Given the description of an element on the screen output the (x, y) to click on. 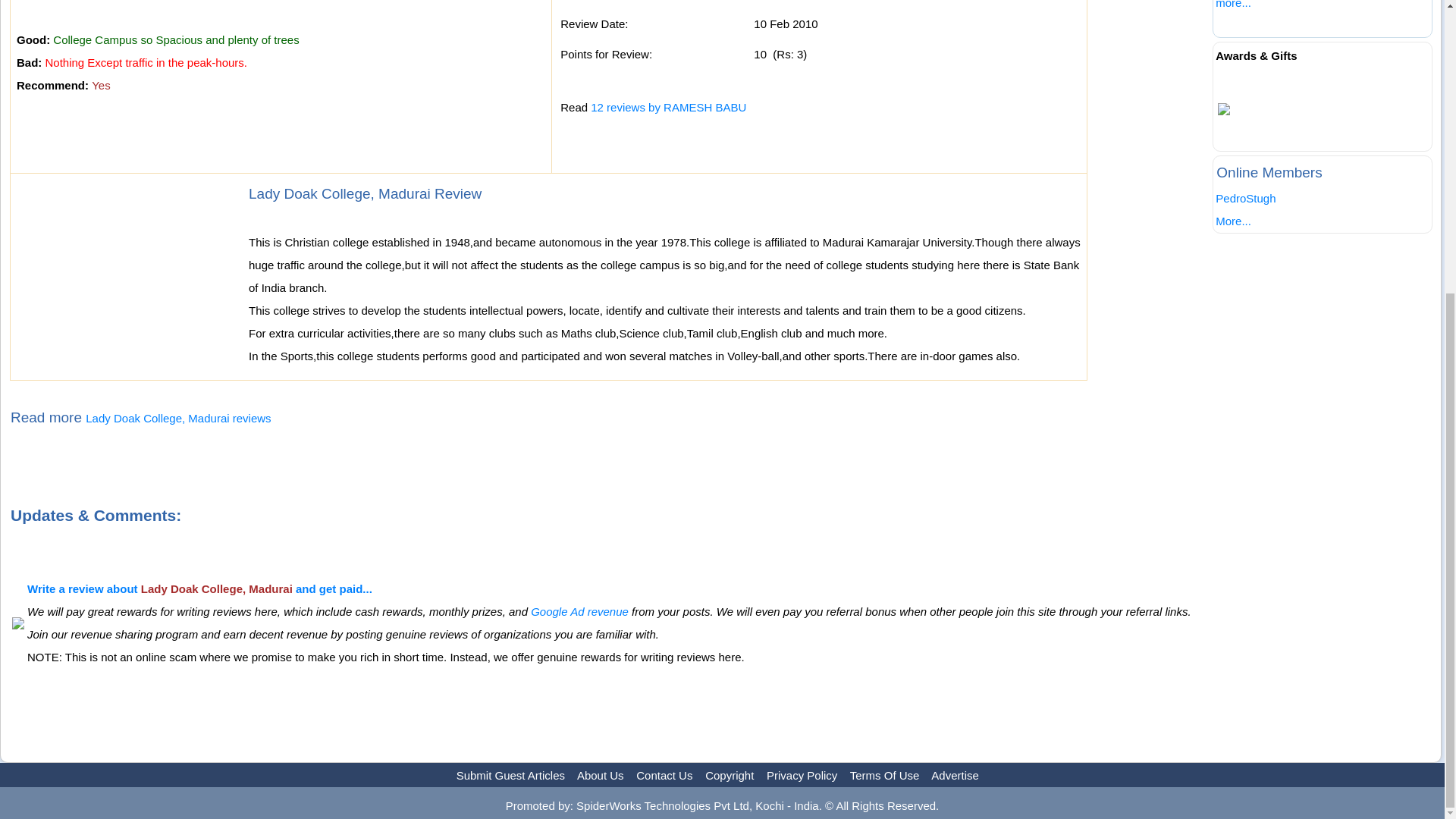
Lady Doak College, Madurai reviews (177, 418)
Google Ad revenue (579, 611)
12 reviews by RAMESH BABU (668, 106)
